Given the description of an element on the screen output the (x, y) to click on. 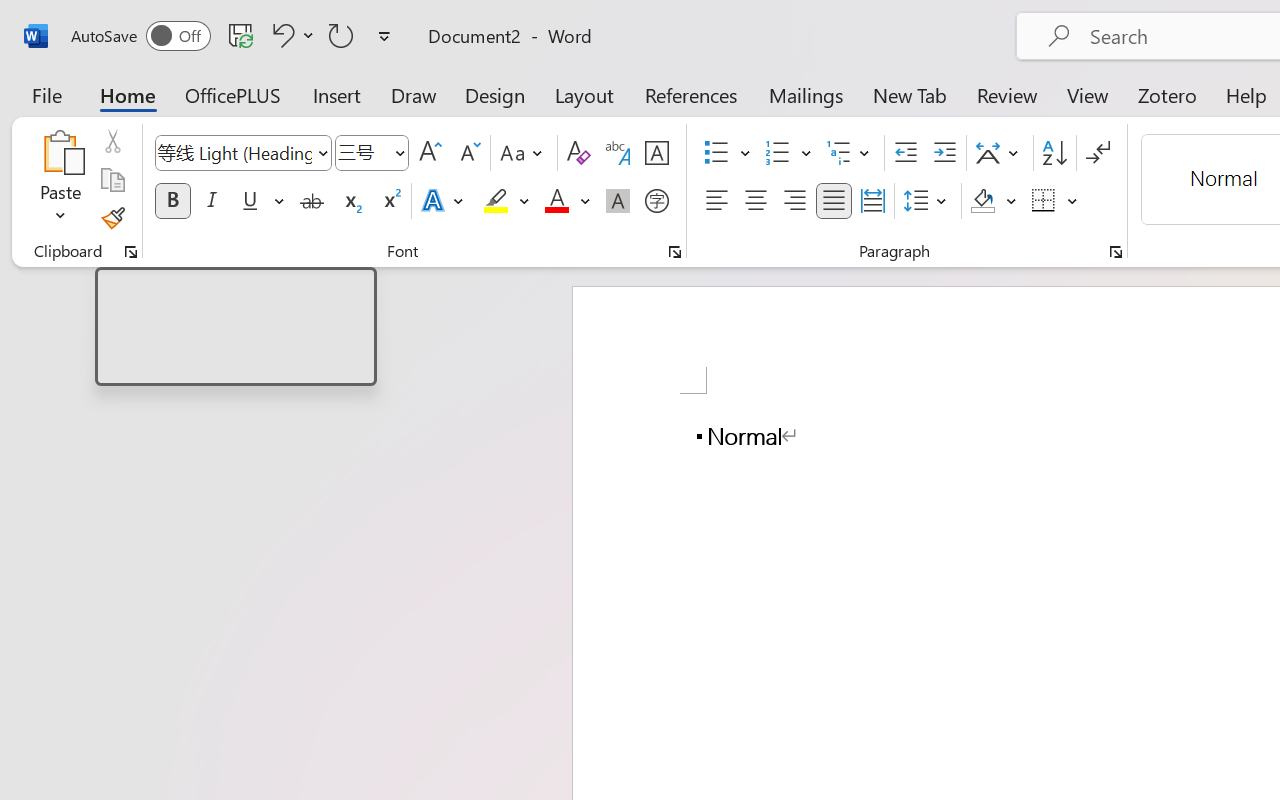
Change Case (524, 153)
Numbering (778, 153)
Text Highlight Color Yellow (495, 201)
Office Clipboard... (131, 252)
Borders (1055, 201)
Superscript (390, 201)
Bullets (727, 153)
Shading RGB(0, 0, 0) (982, 201)
Numbering (788, 153)
Font... (675, 252)
Grow Font (430, 153)
Customize Quick Access Toolbar (384, 35)
Home (127, 94)
Line and Paragraph Spacing (927, 201)
Text Effects and Typography (444, 201)
